Given the description of an element on the screen output the (x, y) to click on. 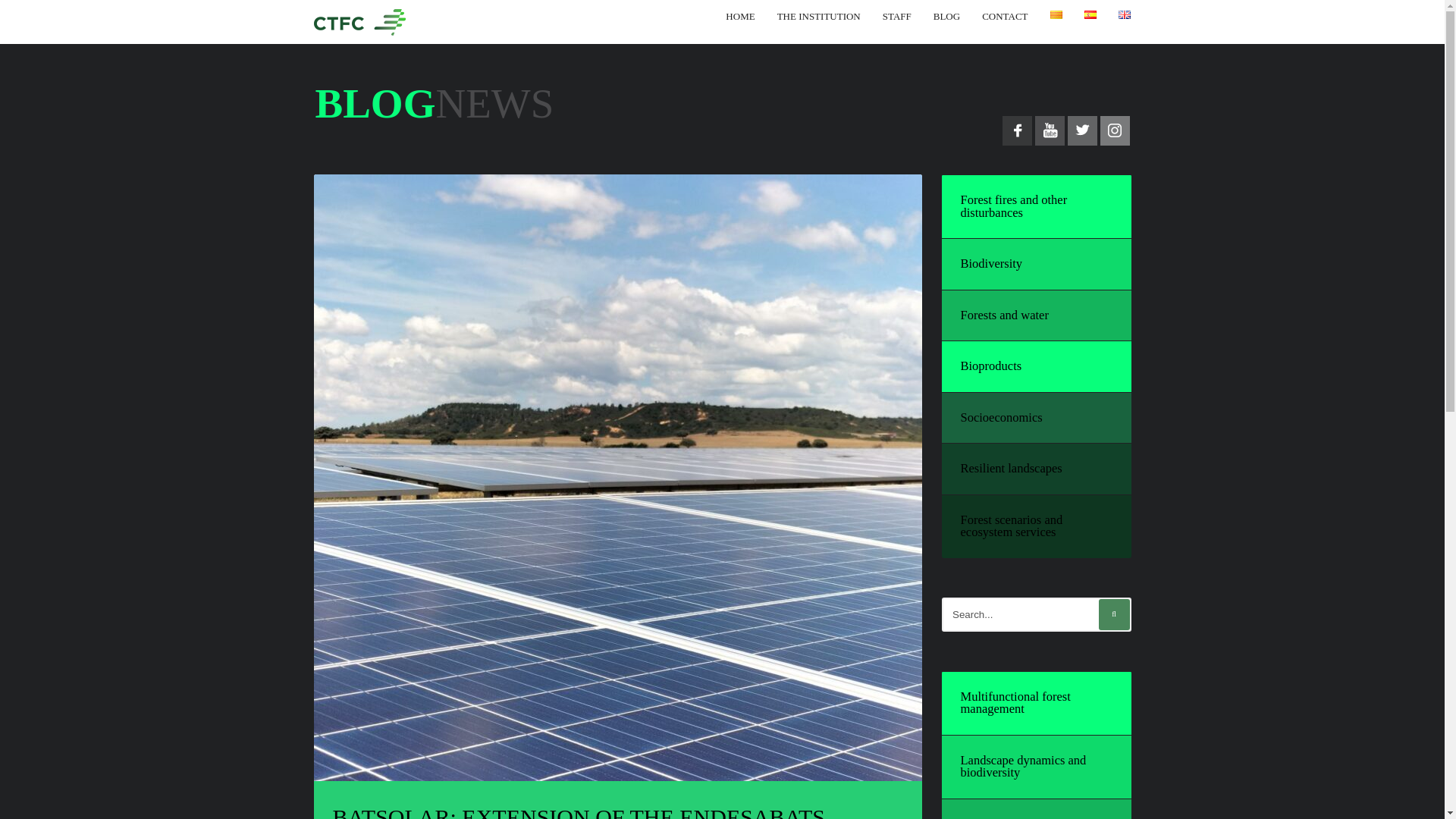
Resilient landscapes (1010, 468)
Forests and water (1003, 314)
HOME (739, 15)
Bioeconomy, health and governance (1020, 817)
THE INSTITUTION (818, 15)
Forest fires and other disturbances (1013, 206)
Forest scenarios and ecosystem services (1010, 525)
Socioeconomics (1000, 416)
Search... (1036, 614)
Bioproducts (990, 365)
STAFF (896, 15)
CONTACT (1004, 15)
Multifunctional forest management (1014, 701)
Landscape dynamics and biodiversity (1022, 765)
